Given the description of an element on the screen output the (x, y) to click on. 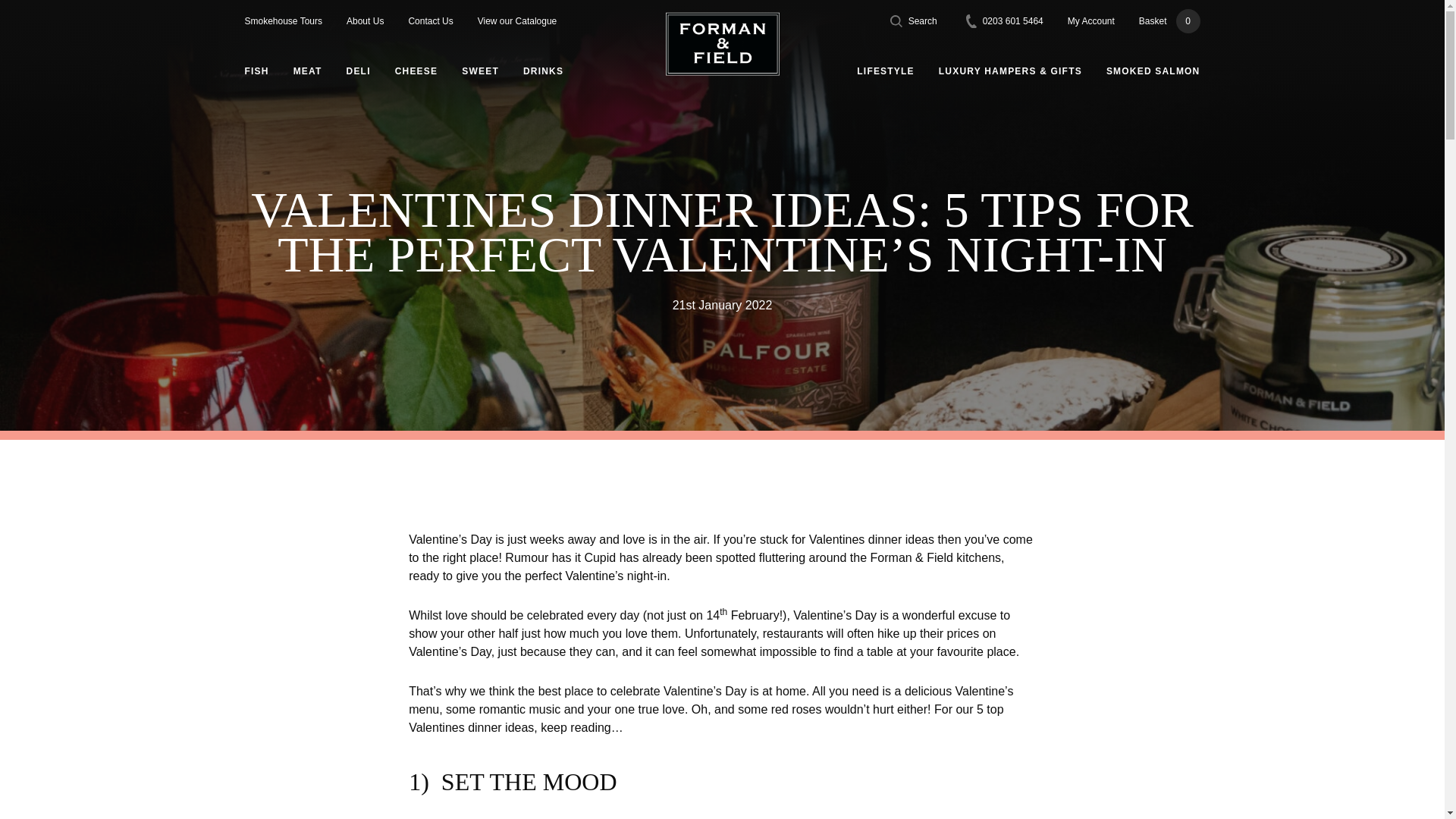
FISH (255, 70)
0203 601 5464 (1168, 21)
My Account (1004, 20)
About Us (1091, 20)
View our Catalogue (365, 20)
MEAT (517, 20)
CHEESE (307, 70)
DELI (416, 70)
Contact Us (358, 70)
